Given the description of an element on the screen output the (x, y) to click on. 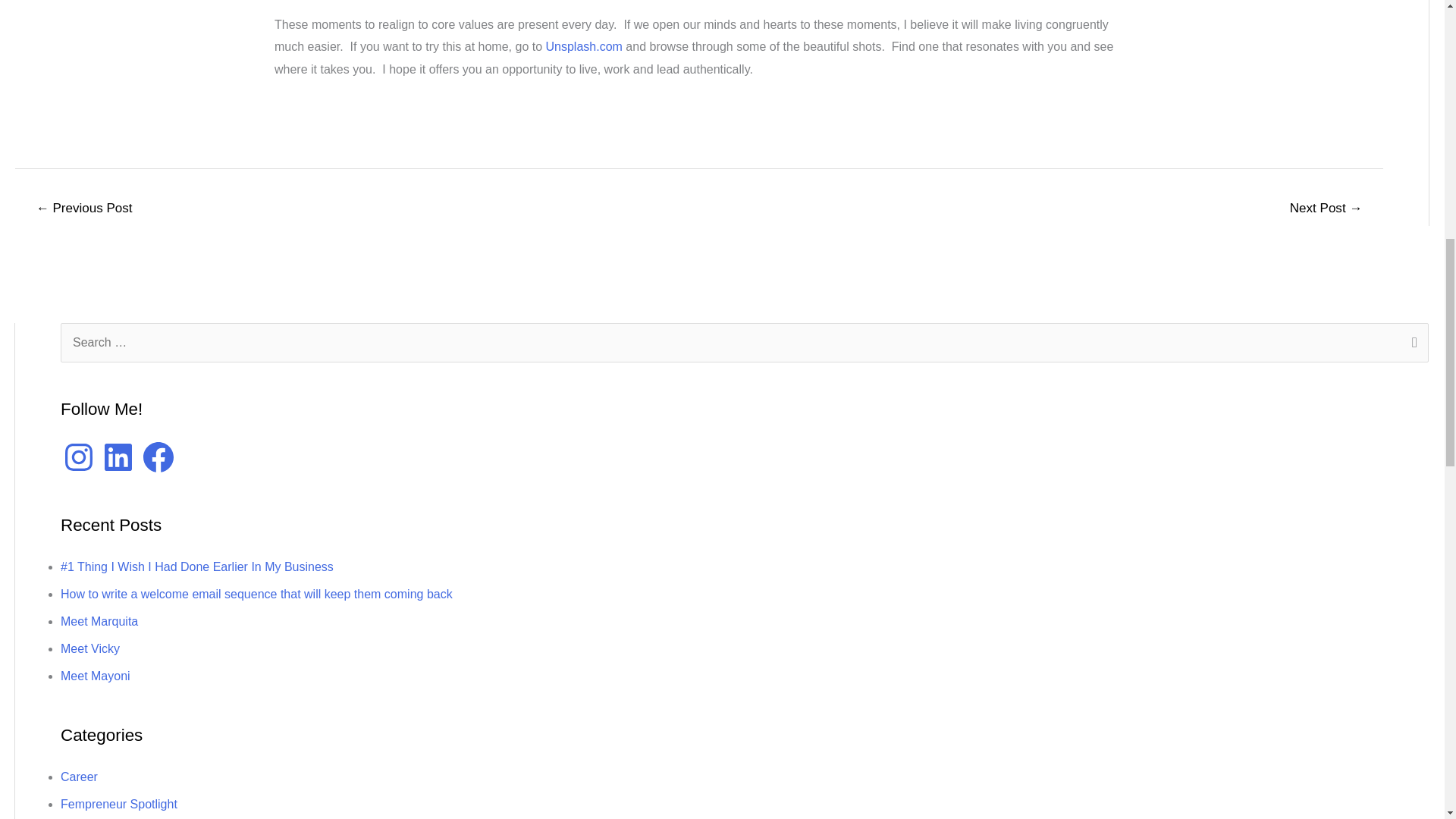
Facebook (157, 456)
Unsplash.com (584, 46)
Career (79, 776)
LinkedIn (118, 456)
Fempreneur Spotlight (119, 803)
Instagram (79, 456)
Meet Vicky (90, 648)
Meet Marquita (99, 621)
Search (1411, 343)
Search (1411, 343)
Meet Mayoni (96, 675)
Search (1411, 343)
